Given the description of an element on the screen output the (x, y) to click on. 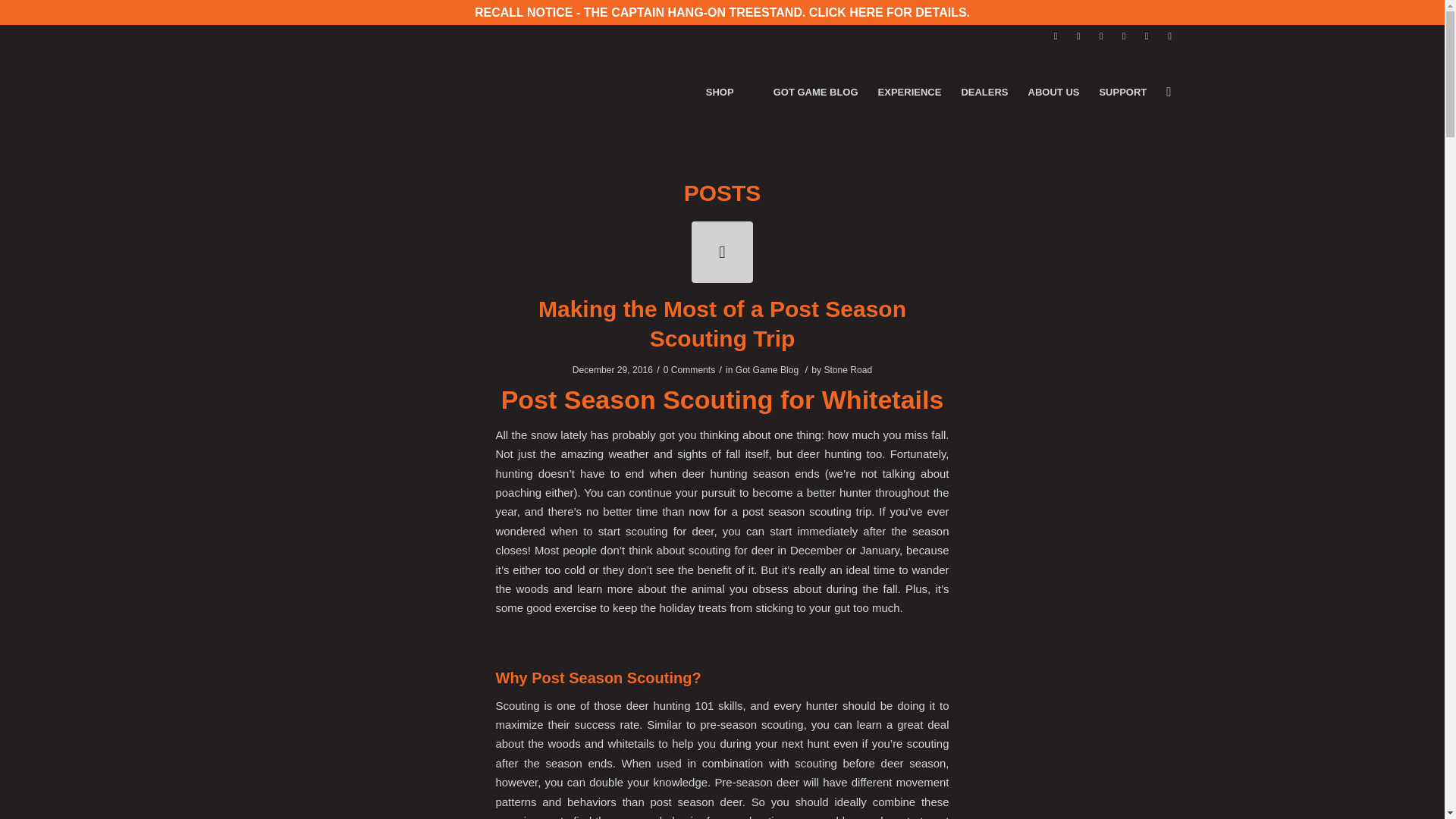
Instagram (1101, 36)
Making the Most of a Post Season Scouting Trip (721, 251)
Pinterest (1124, 36)
Gplus (1169, 36)
Twitter (1078, 36)
Youtube (1146, 36)
EXPERIENCE (909, 92)
GOT GAME BLOG (814, 92)
Posts by Stone Road (848, 369)
Facebook (1056, 36)
